Given the description of an element on the screen output the (x, y) to click on. 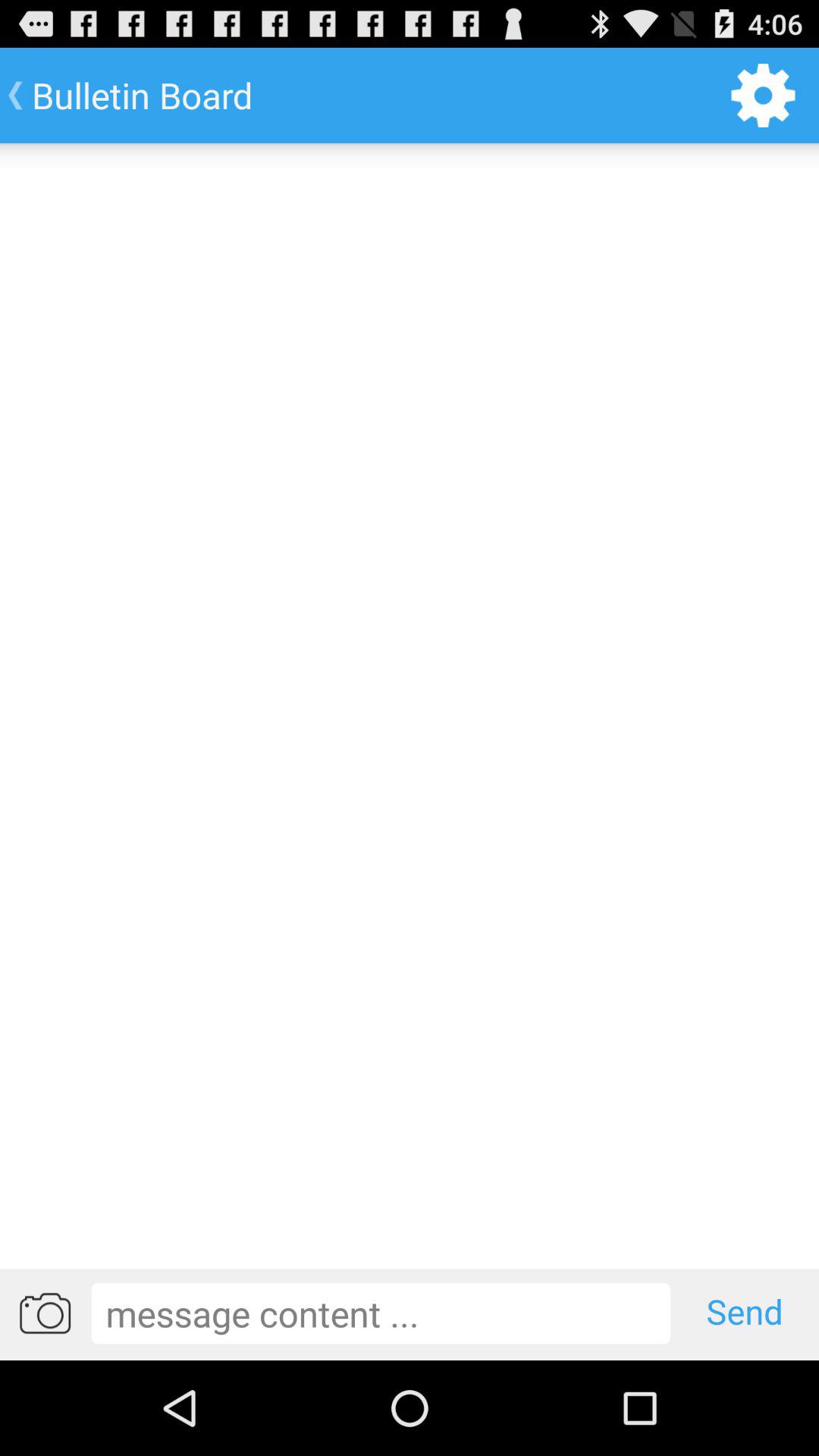
launch the item to the right of bulletin board item (763, 95)
